Given the description of an element on the screen output the (x, y) to click on. 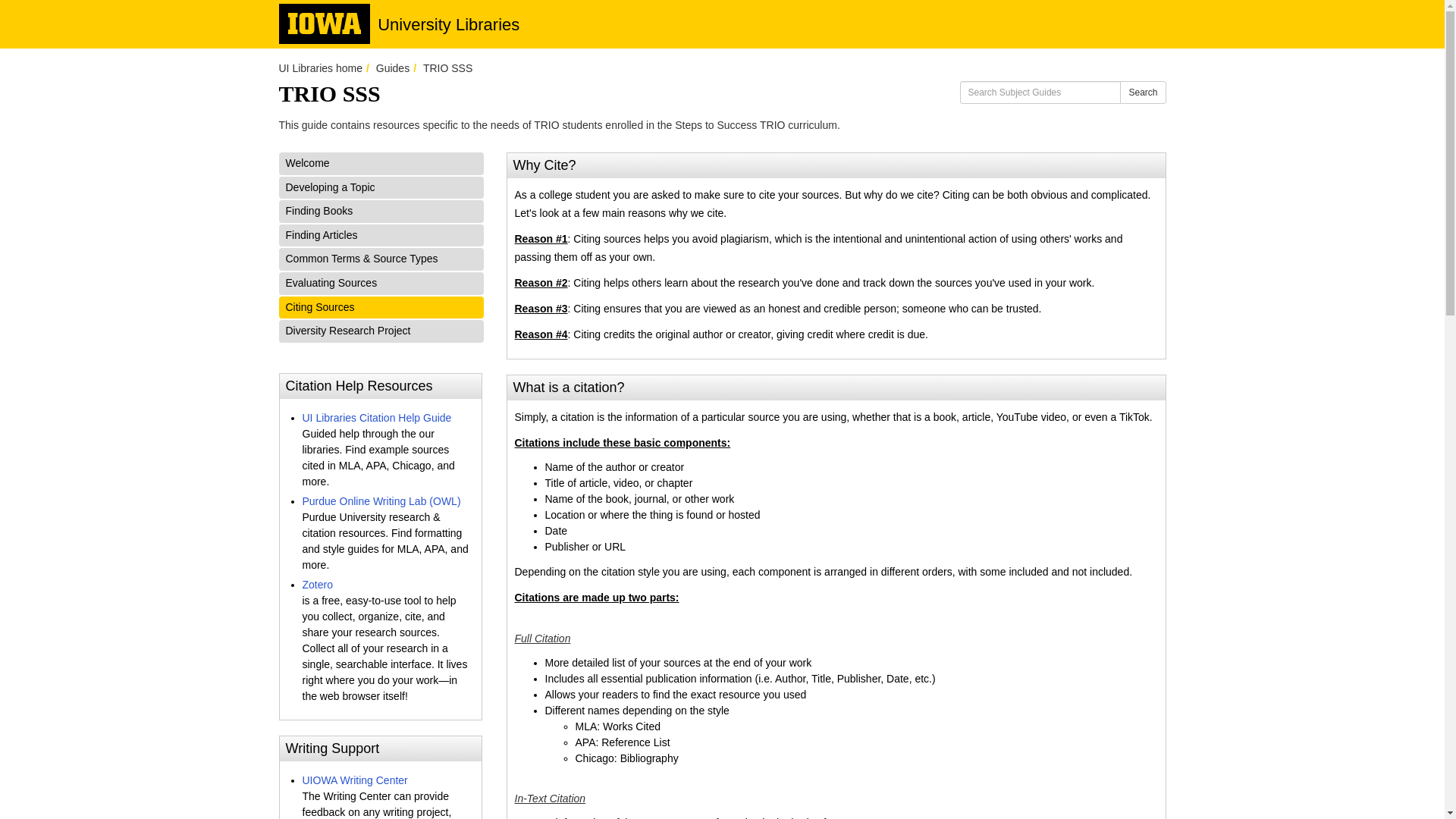
University of Iowa (324, 22)
University Libraries (448, 24)
University of Iowa (325, 23)
University of Iowa (325, 23)
